Given the description of an element on the screen output the (x, y) to click on. 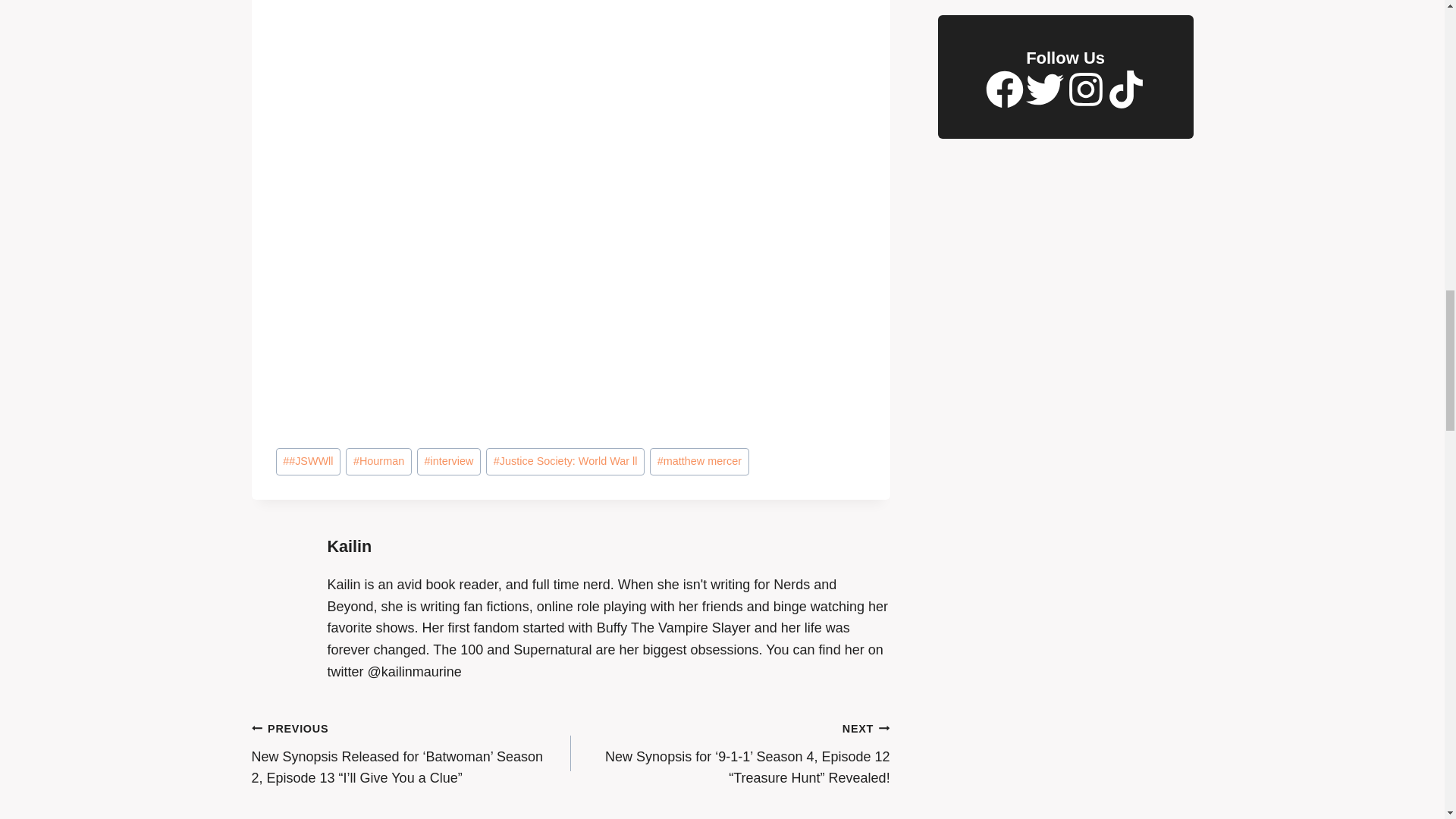
Justice Society: World War ll (565, 461)
matthew mercer (698, 461)
interview (448, 461)
Hourman (378, 461)
Posts by Kailin (349, 546)
